Given the description of an element on the screen output the (x, y) to click on. 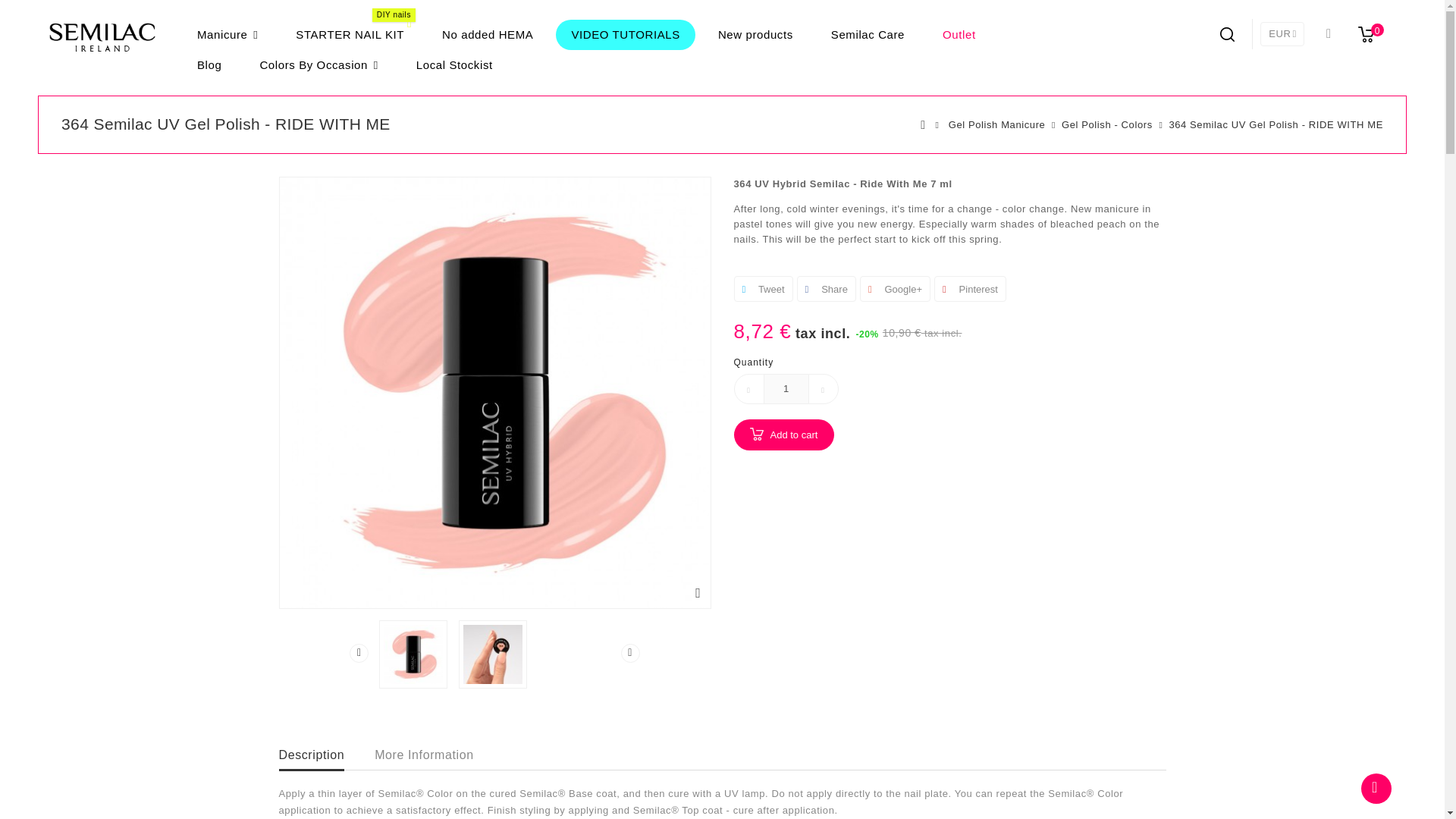
Gel Polish Manicure (997, 125)
1 (785, 388)
View my shopping cart (1369, 33)
364 Semilac UV Gel Polish - RIDE WITH ME (413, 653)
Other views (358, 652)
Gel Polish - Colors (1107, 125)
364 Semilac UV Gel Polish - RIDE WITH ME (492, 653)
0 (1369, 33)
Manicure (227, 34)
